Given the description of an element on the screen output the (x, y) to click on. 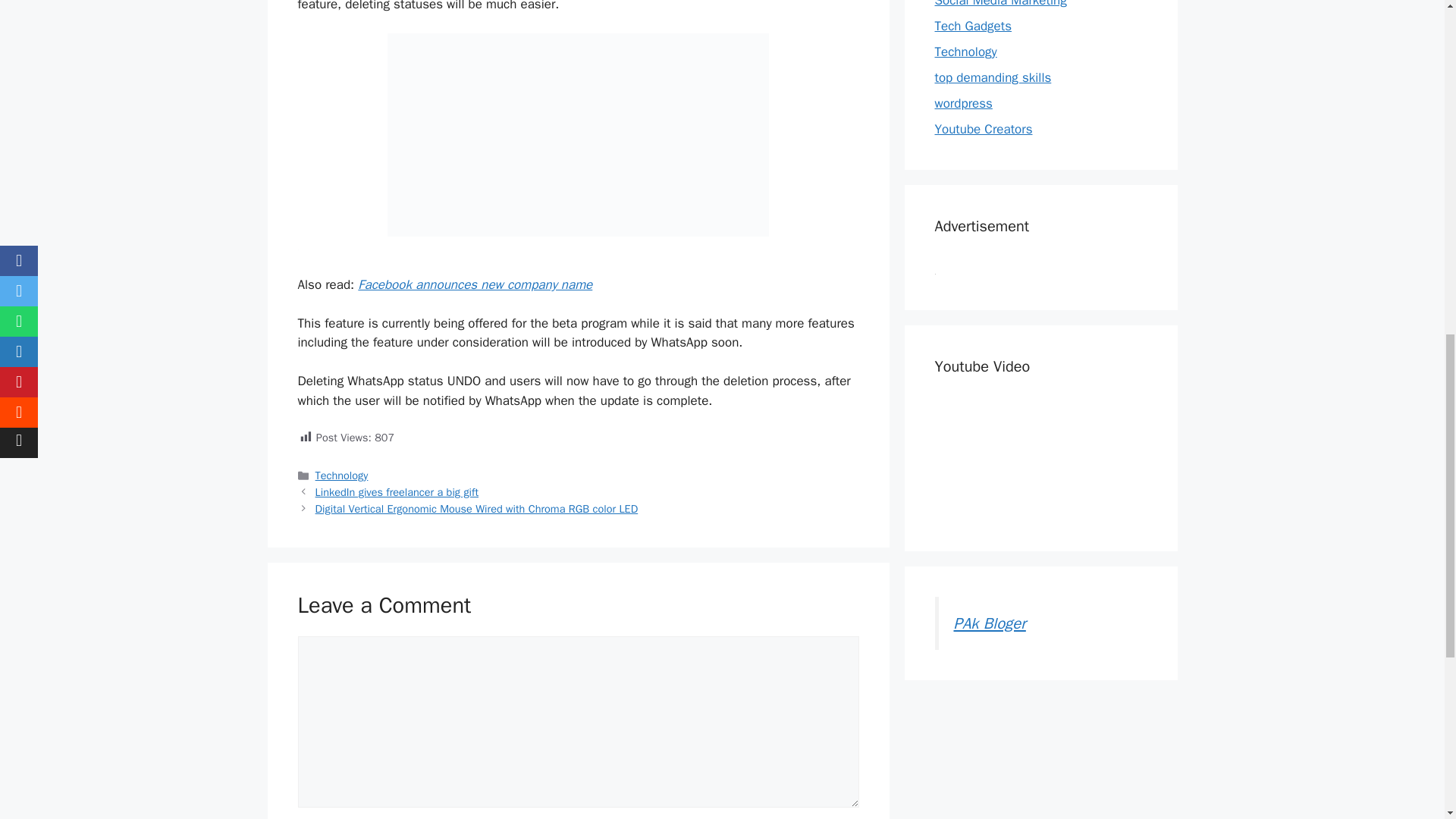
Technology (964, 51)
top demanding skills (992, 77)
Tech Gadgets (972, 26)
Facebook announces new company name (475, 284)
wordpress (962, 103)
Scroll back to top (1406, 720)
Youtube Creators (983, 129)
Social Media Marketing (999, 4)
LinkedIn gives freelancer a big gift (397, 491)
Technology (341, 475)
PAk Bloger (989, 622)
